Given the description of an element on the screen output the (x, y) to click on. 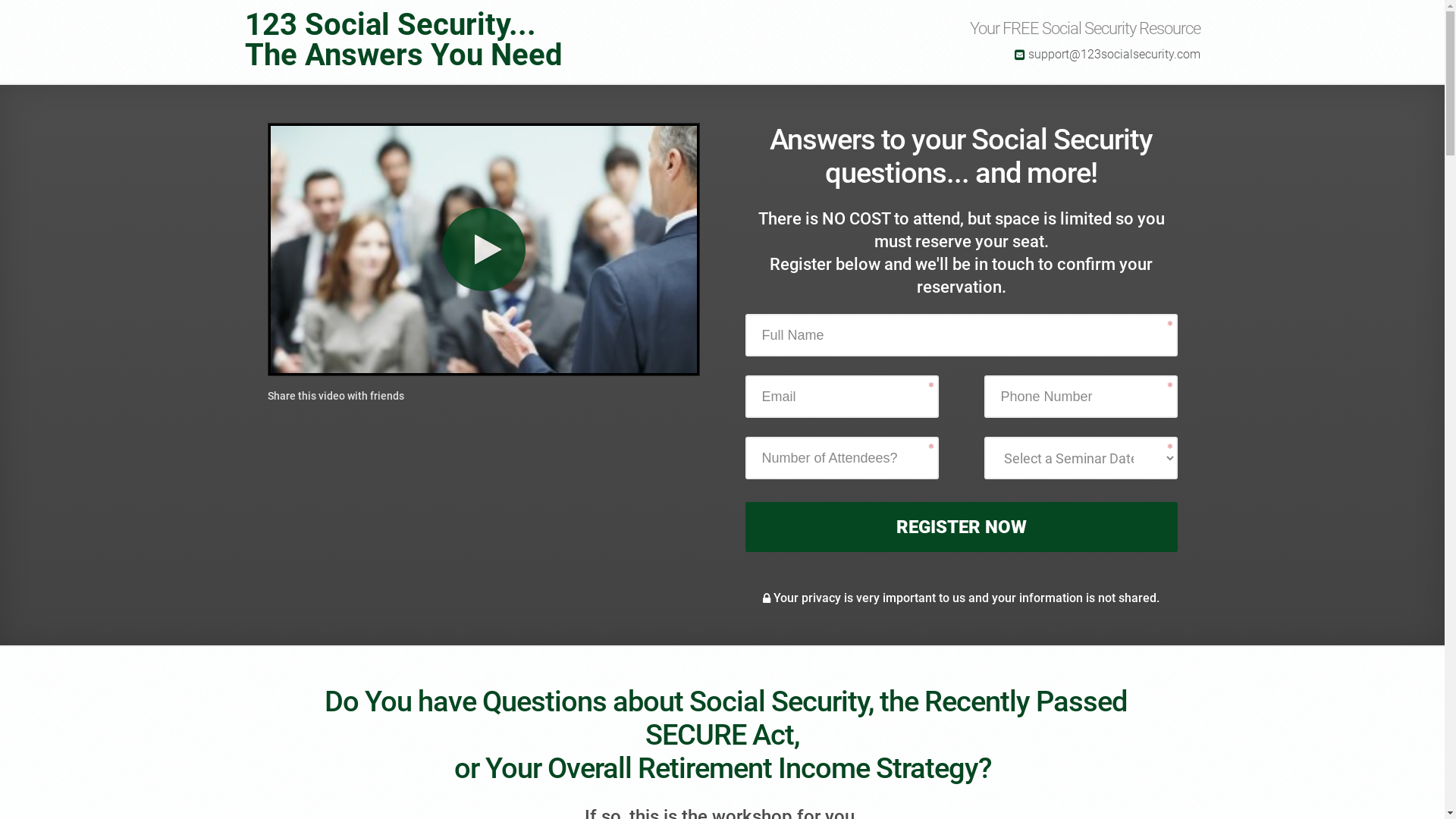
Register Now Element type: text (960, 527)
123 Social Security...
The Answers You Need Element type: text (420, 41)
